Given the description of an element on the screen output the (x, y) to click on. 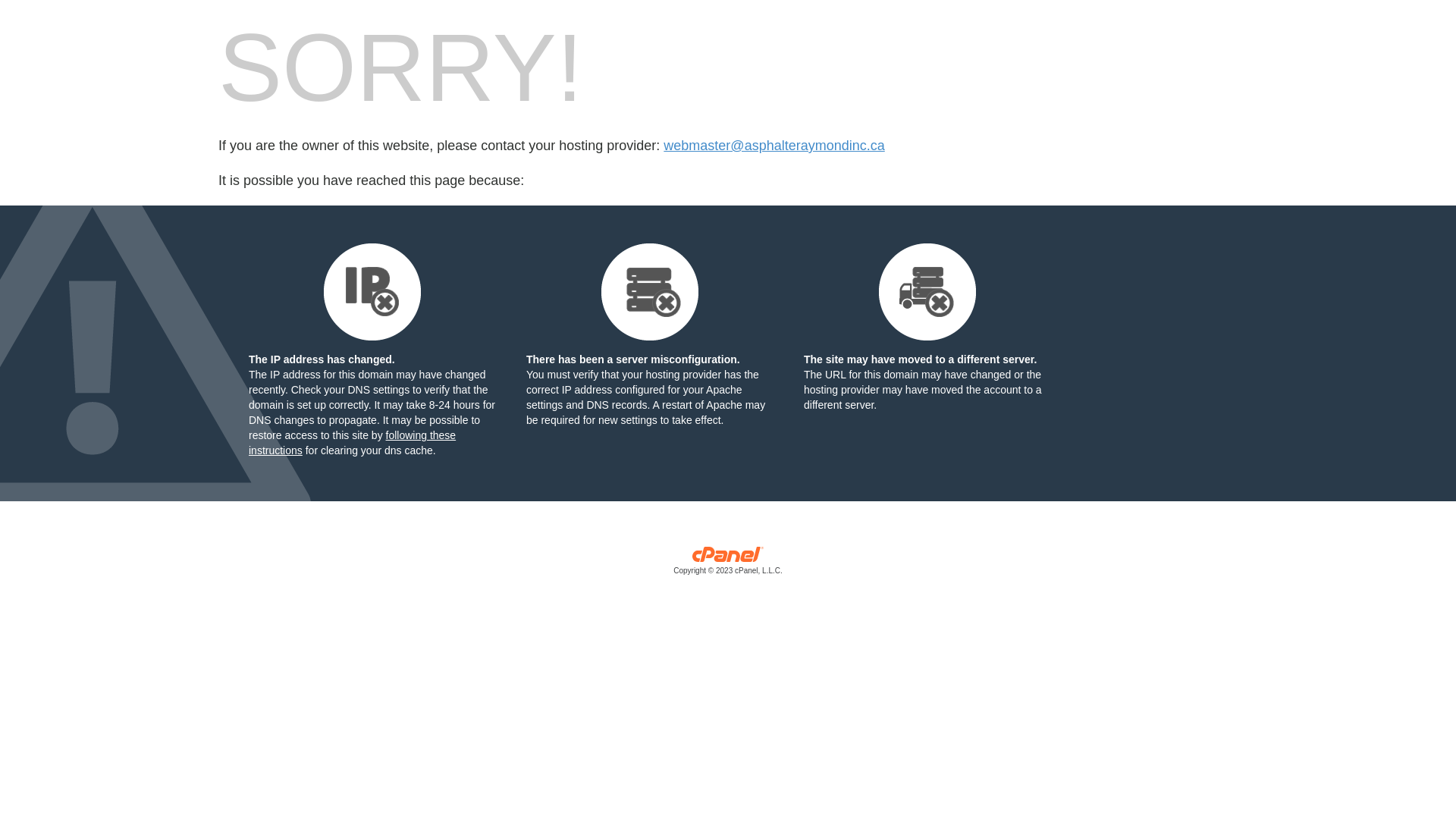
webmaster@asphalteraymondinc.ca Element type: text (773, 145)
following these instructions Element type: text (351, 442)
